Given the description of an element on the screen output the (x, y) to click on. 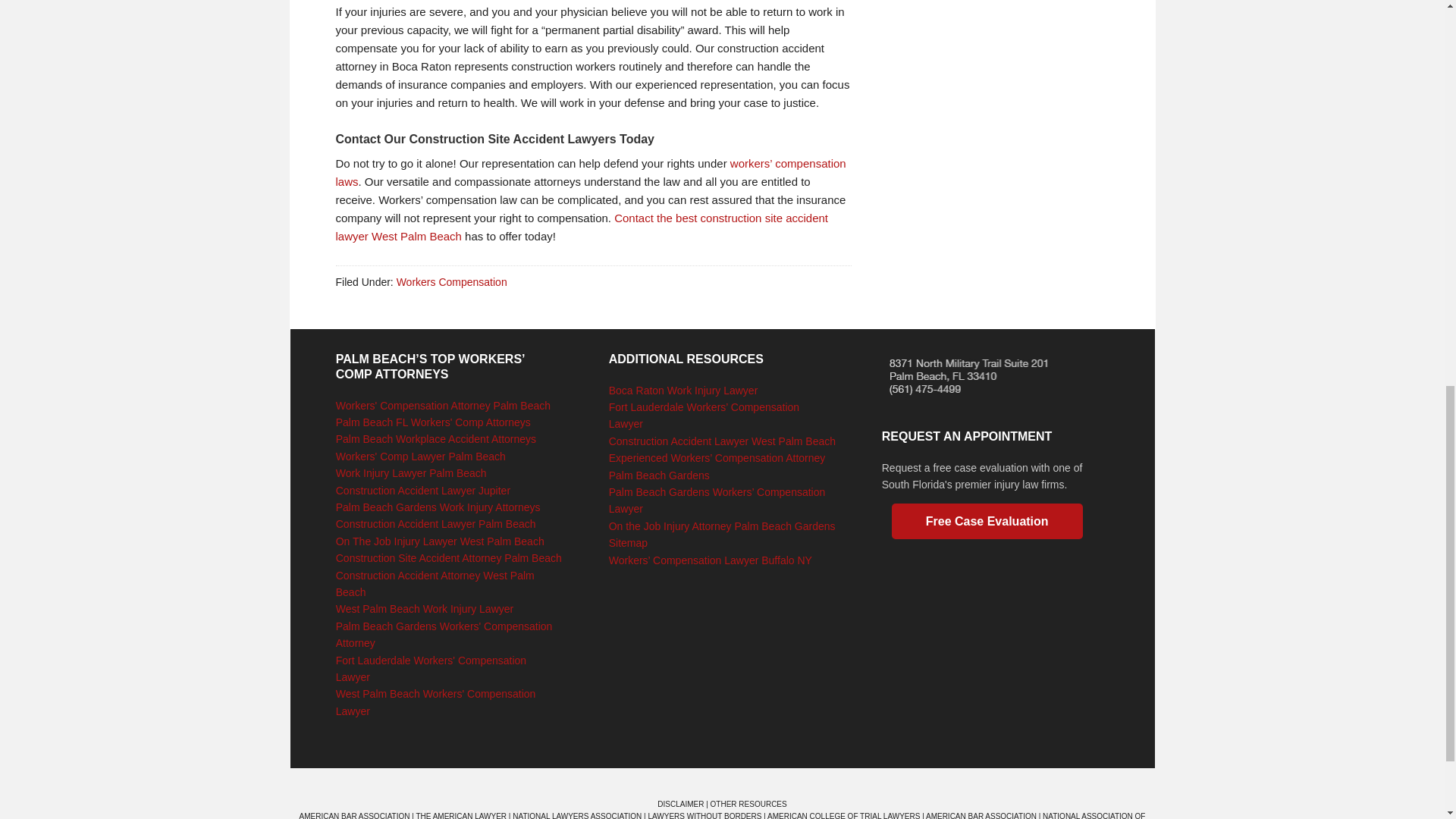
Construction Accident Lawyer Jupiter (423, 490)
Some Additonal Workers Compensation Info (589, 172)
Palm Beach Gardens Work Injury Attorneys (438, 507)
Palm Beach FL Workers' Comp Attorneys (433, 422)
On The Job Injury Lawyer West Palm Beach (440, 541)
Workers Compensation (451, 282)
Construction Accident Lawyer Palm Beach (435, 523)
Construction Accident Attorney West Palm Beach (435, 583)
Workers' Comp Lawyer Palm Beach (420, 456)
Workers' Compensation Attorney Palm Beach (443, 405)
Work Injury Lawyer Palm Beach (411, 472)
Palm Beach Workplace Accident Attorneys (435, 439)
Construction Site Accident Attorney Palm Beach (449, 558)
